Given the description of an element on the screen output the (x, y) to click on. 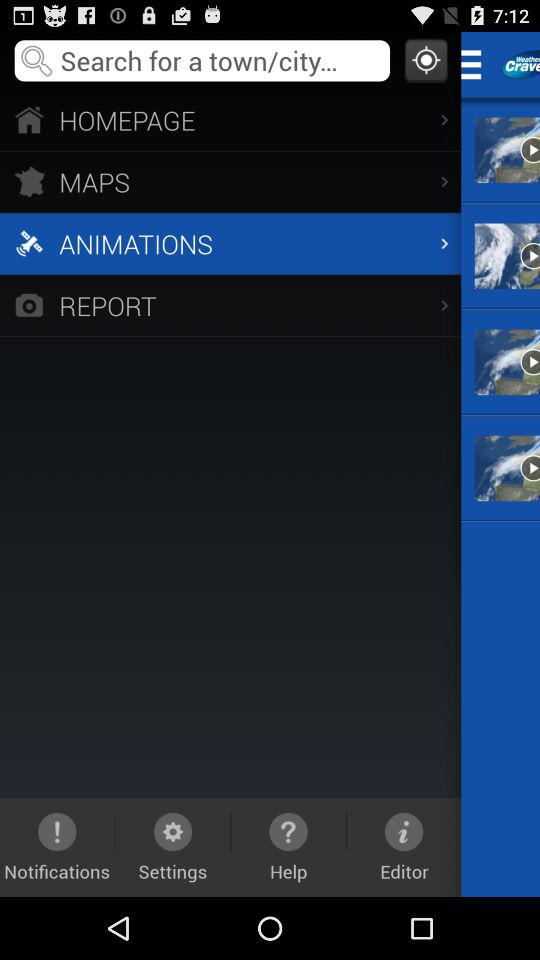
jump to settings app (172, 847)
